Given the description of an element on the screen output the (x, y) to click on. 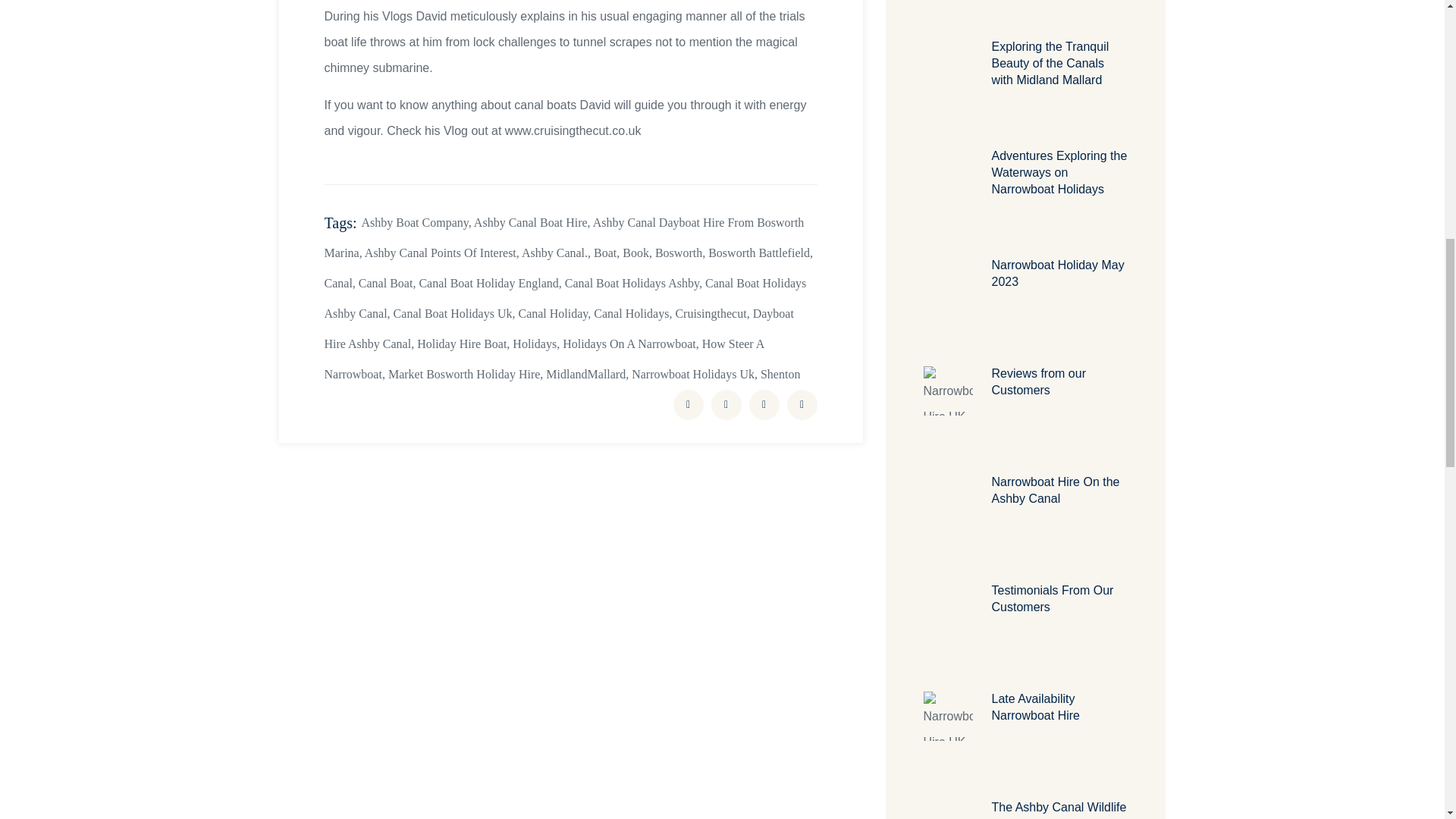
Book (636, 252)
Ashby Canal Dayboat Hire From Bosworth Marina (564, 237)
Canal (338, 282)
Canal Boat Holidays Ashby (631, 282)
Canal Boat Holiday England (488, 282)
Canal Boat (385, 282)
Canal Boat Holidays Uk (452, 313)
Canal Holiday (553, 313)
Ashby Boat Company (414, 222)
Ashby Canal. (554, 252)
